Given the description of an element on the screen output the (x, y) to click on. 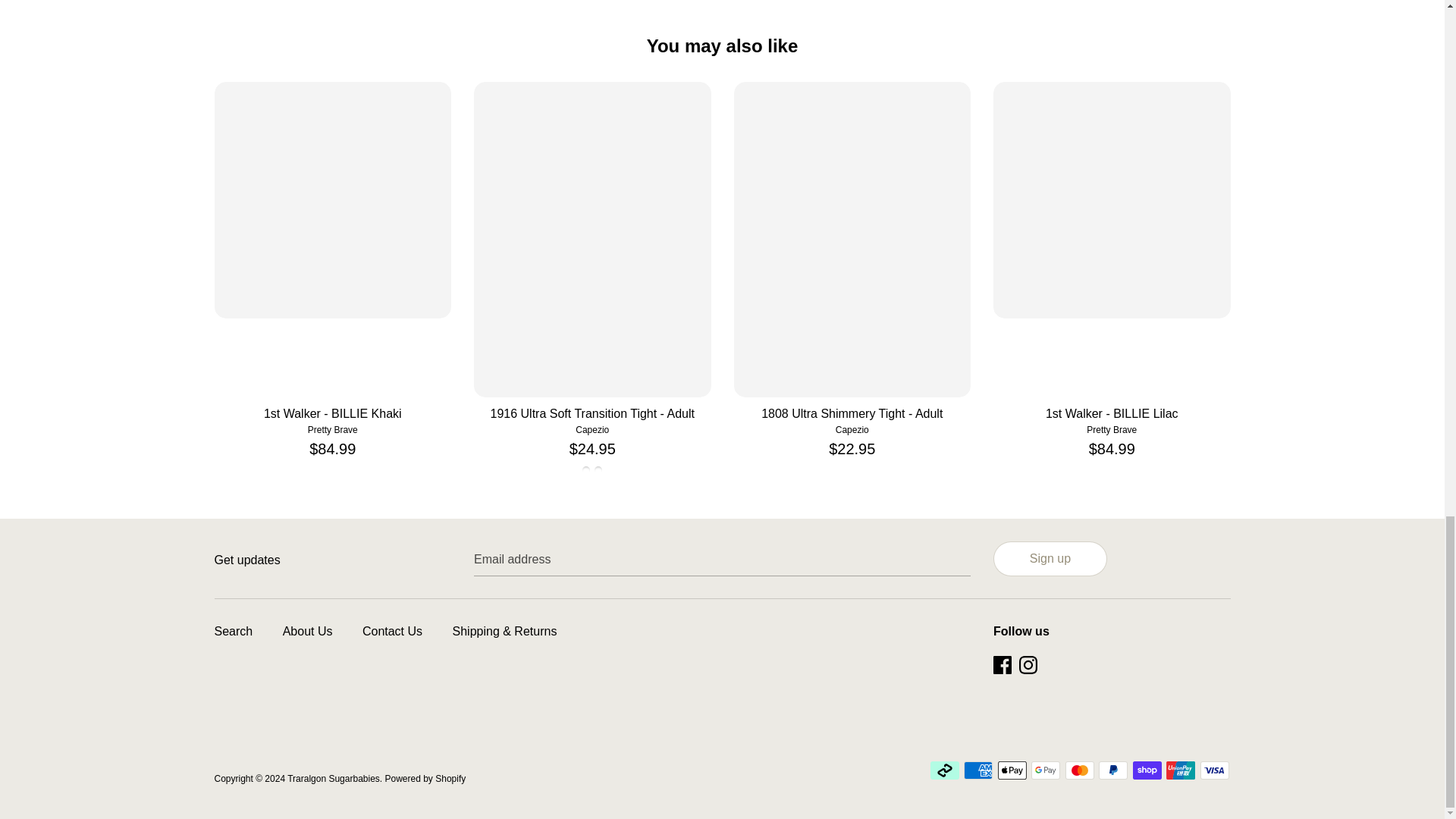
Afterpay (944, 770)
American Express (977, 770)
